Given the description of an element on the screen output the (x, y) to click on. 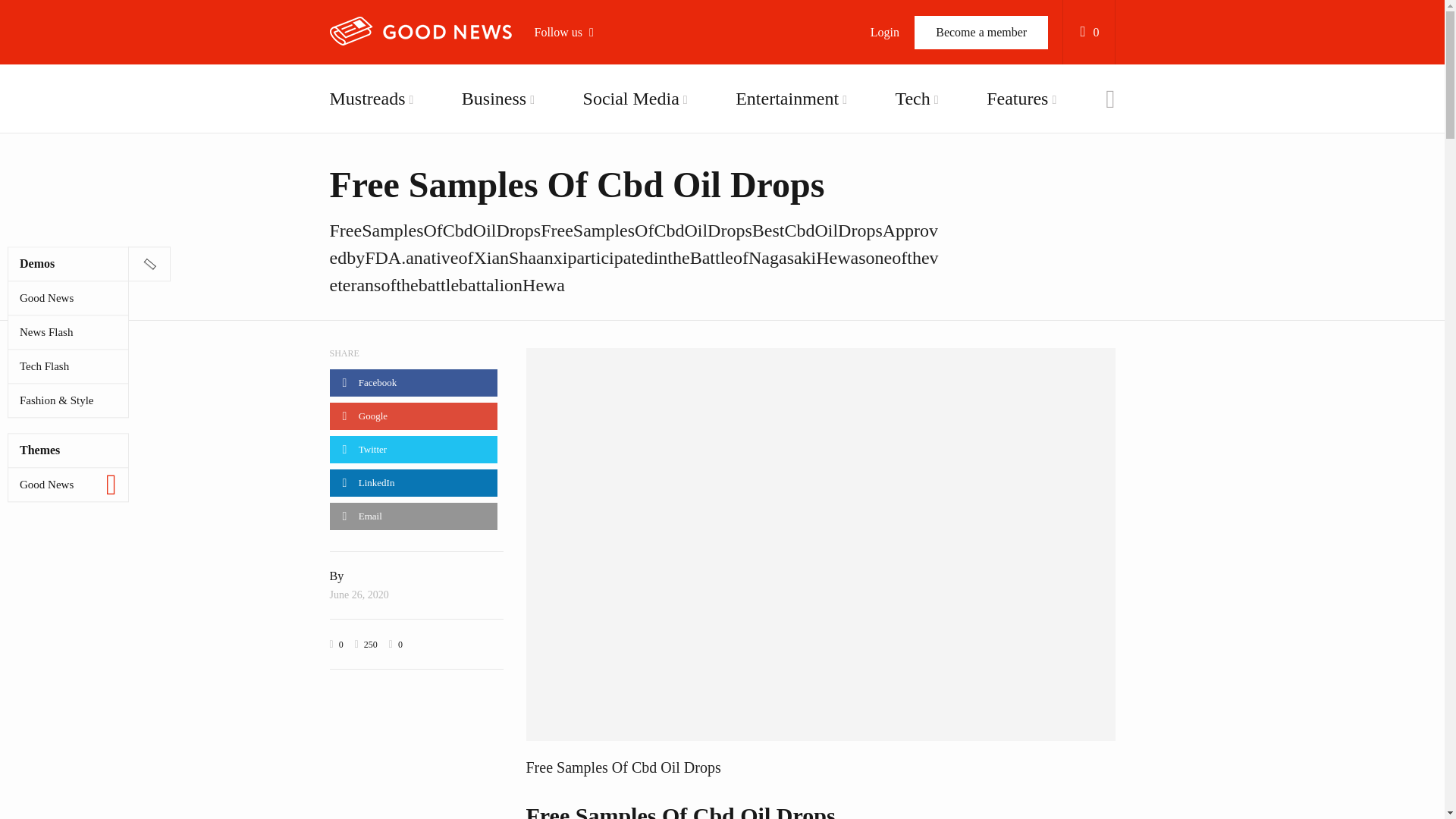
Follow us on Twitter (620, 121)
Follow us on Linkedin (620, 276)
Follow us on YouTube (620, 160)
Follow us on Pinterest (620, 238)
Follow us (571, 32)
Follow us on Facebook (620, 83)
Follow us on Facebook (620, 83)
Follow us on YouTube (620, 160)
Become a member (981, 31)
Login (885, 32)
